Given the description of an element on the screen output the (x, y) to click on. 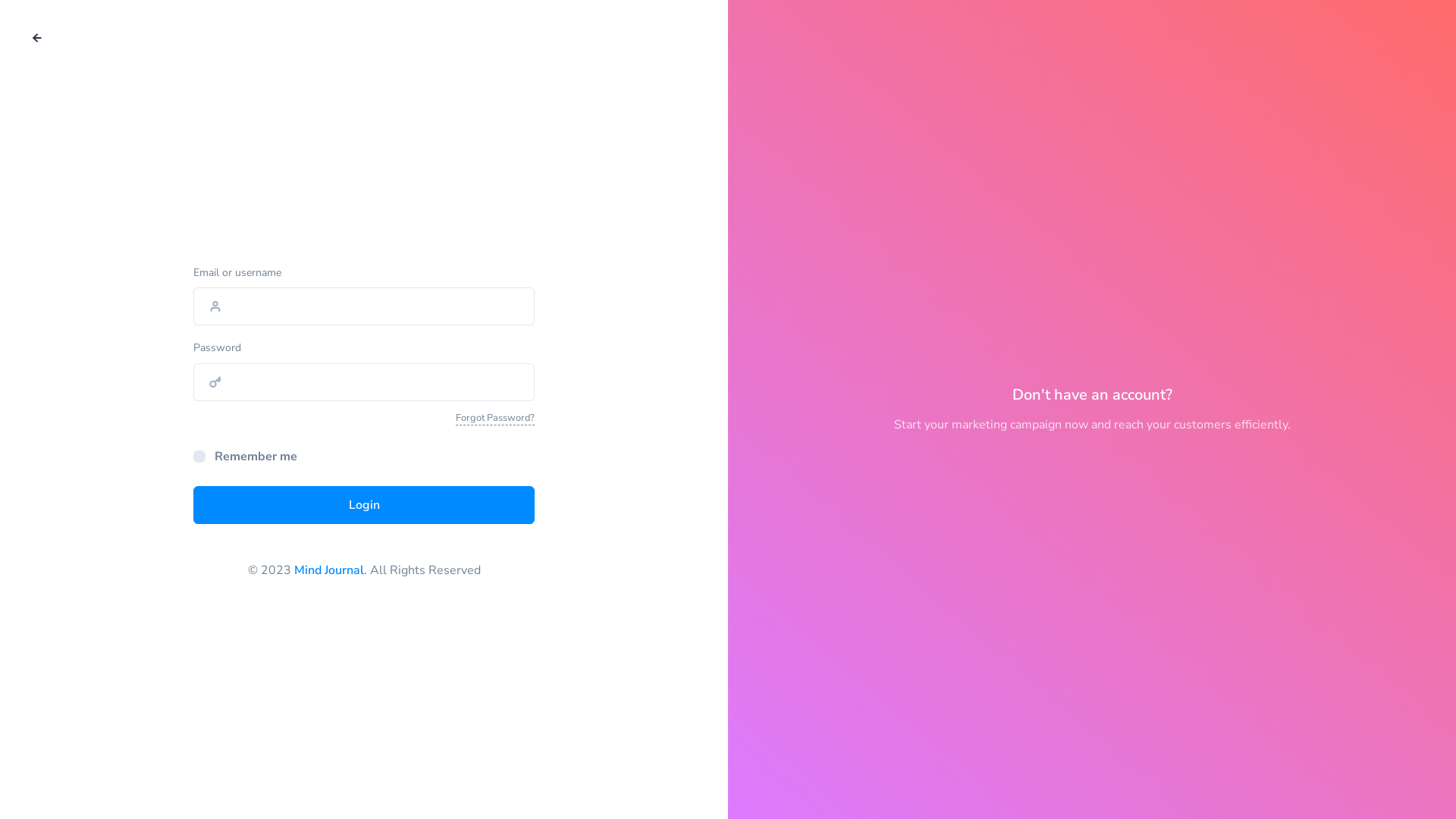
Mind Journal Element type: text (329, 569)
Forgot Password? Element type: text (494, 418)
Login Element type: text (363, 505)
